Given the description of an element on the screen output the (x, y) to click on. 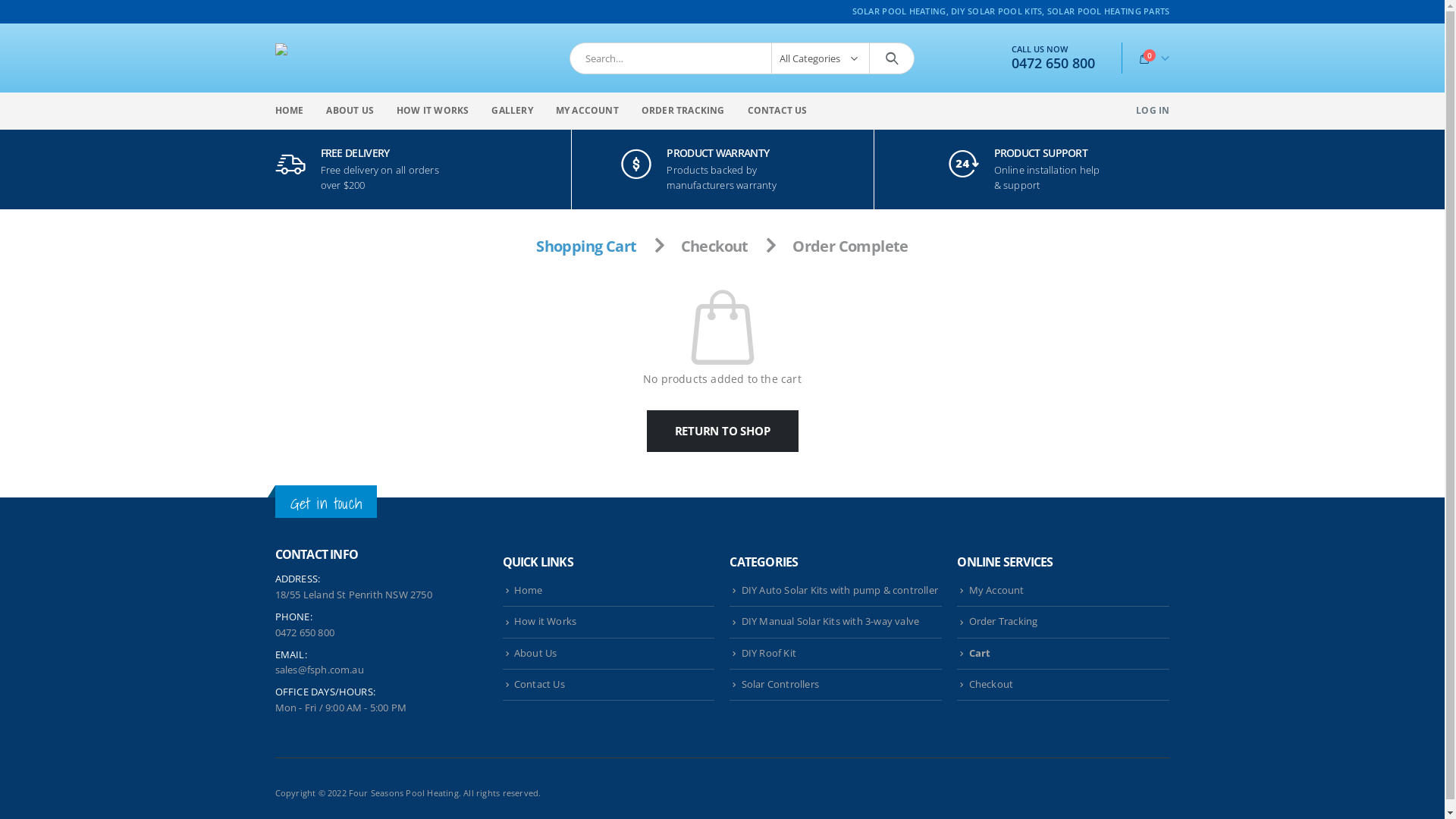
LOG IN Element type: text (1152, 110)
Four Seasons Pool Heating - Solar Pool Heating Specialists Element type: hover (369, 48)
DIY Roof Kit Element type: text (768, 652)
RETURN TO SHOP Element type: text (721, 430)
HOW IT WORKS Element type: text (432, 110)
GALLERY Element type: text (511, 110)
MY ACCOUNT Element type: text (586, 110)
sales@fsph.com.au Element type: text (318, 669)
HOME Element type: text (288, 110)
How it Works Element type: text (545, 621)
DIY Auto Solar Kits with pump & controller Element type: text (839, 589)
Home Element type: text (528, 589)
Solar Controllers Element type: text (780, 683)
My Account Element type: text (996, 589)
Contact Us Element type: text (539, 683)
Cart Element type: text (980, 652)
Search Element type: hover (891, 57)
Order Tracking Element type: text (1003, 621)
DIY Manual Solar Kits with 3-way valve Element type: text (830, 621)
Checkout Element type: text (991, 683)
ABOUT US Element type: text (349, 110)
0472 650 800 Element type: text (1053, 63)
CONTACT US Element type: text (777, 110)
ORDER TRACKING Element type: text (682, 110)
Order Complete Element type: text (850, 245)
Checkout Element type: text (714, 245)
Shopping Cart Element type: text (586, 245)
About Us Element type: text (535, 652)
